Given the description of an element on the screen output the (x, y) to click on. 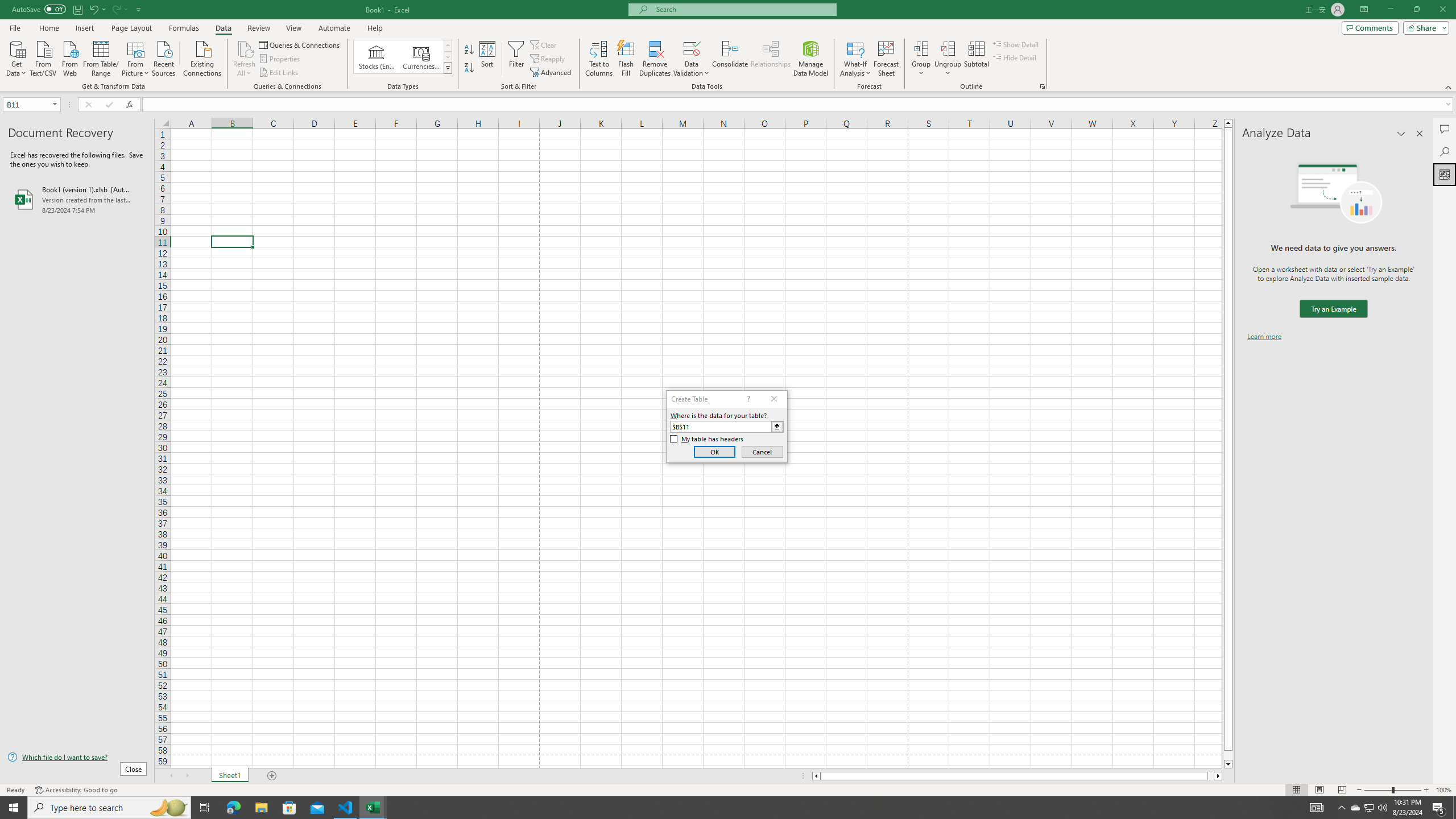
From Picture (135, 57)
Consolidate... (729, 58)
